Given the description of an element on the screen output the (x, y) to click on. 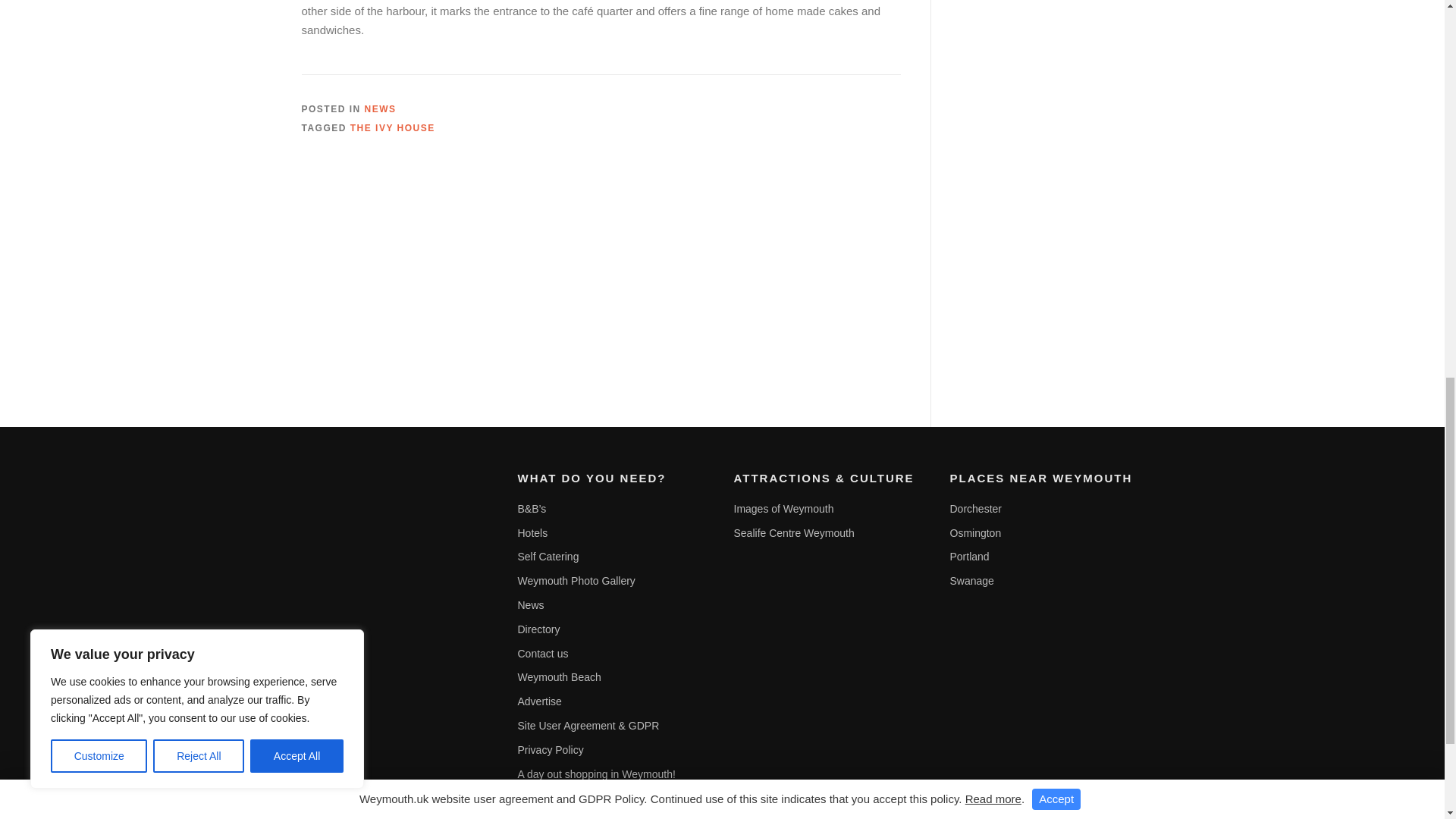
A guide to the Isle Of Portland in Dorset (968, 556)
Sealife Centre Weymouth (793, 532)
Advertisement (1073, 266)
Weymouth Hotels (531, 532)
Osmington (975, 532)
Weymouth Self Catering (547, 556)
A tourist guide to the town of Swanage (970, 580)
